Given the description of an element on the screen output the (x, y) to click on. 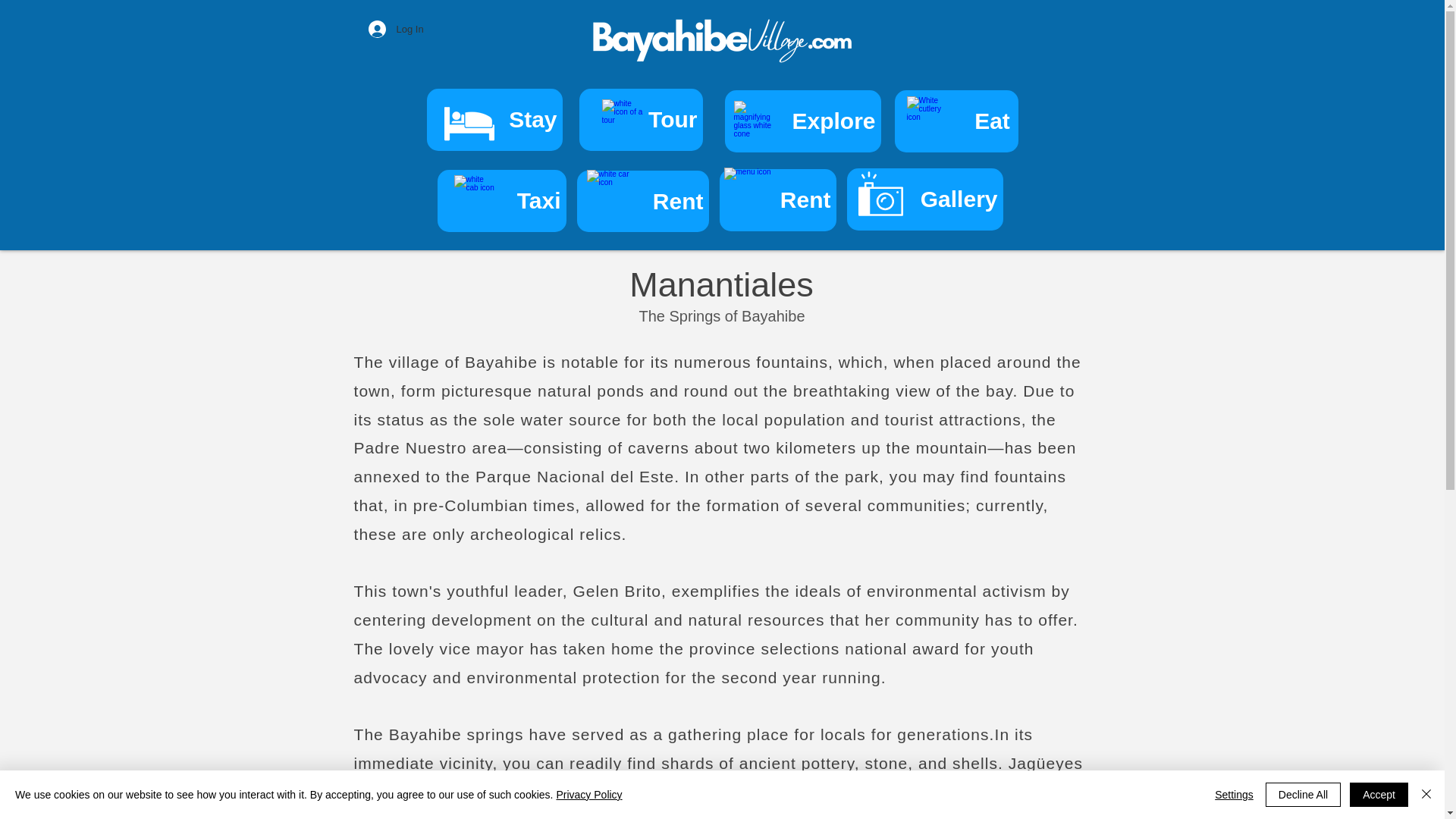
Taxi (501, 200)
Log In (395, 28)
Rent (777, 199)
Stay (494, 119)
Gallery (924, 199)
Rent (641, 200)
Tour (641, 119)
Explore (802, 121)
Embedded Content (1187, 71)
Eat (956, 121)
